Given the description of an element on the screen output the (x, y) to click on. 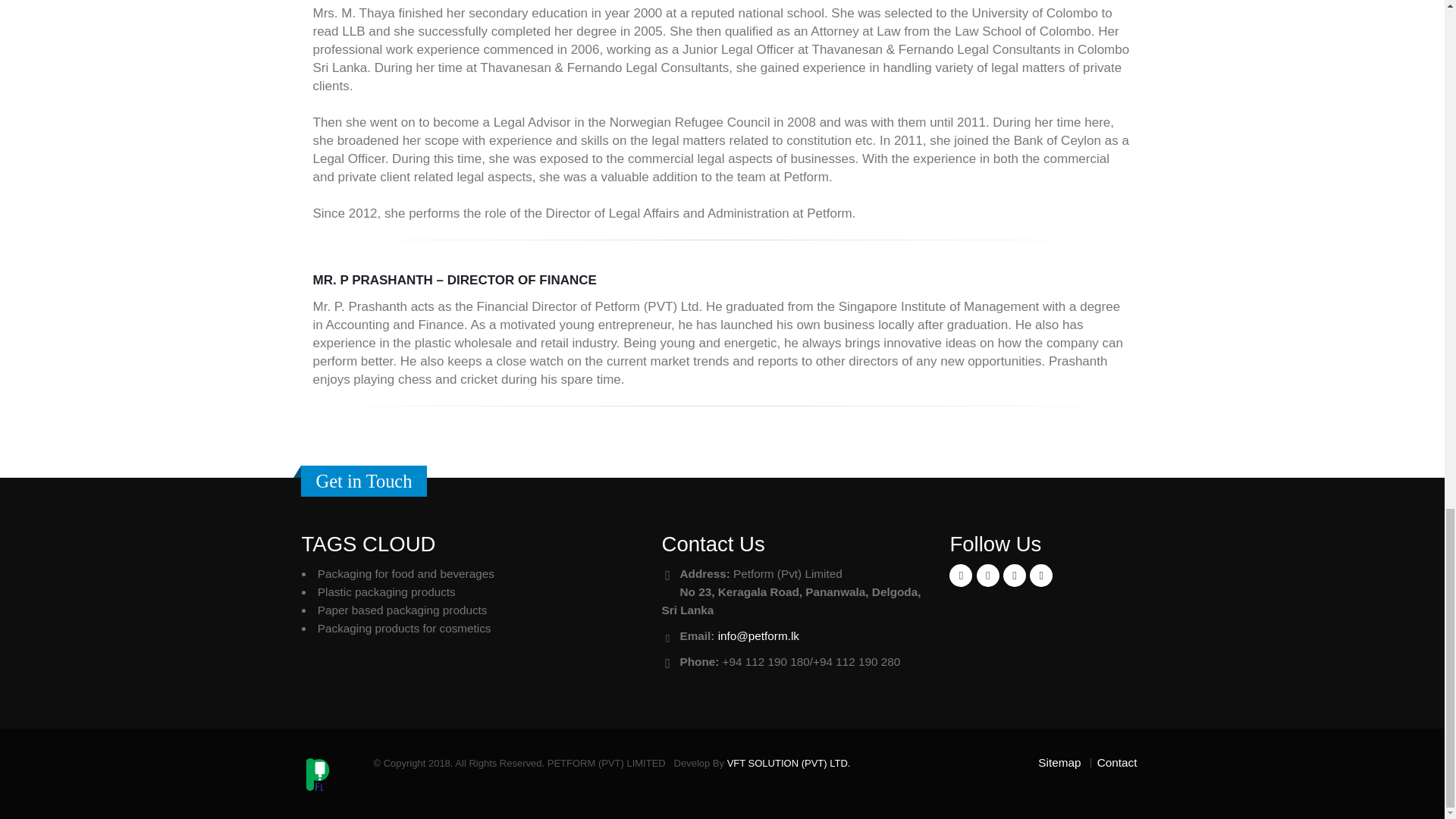
Linkedin (1040, 575)
Linkedin (1014, 575)
Facebook (960, 575)
Twitter (987, 575)
